Given the description of an element on the screen output the (x, y) to click on. 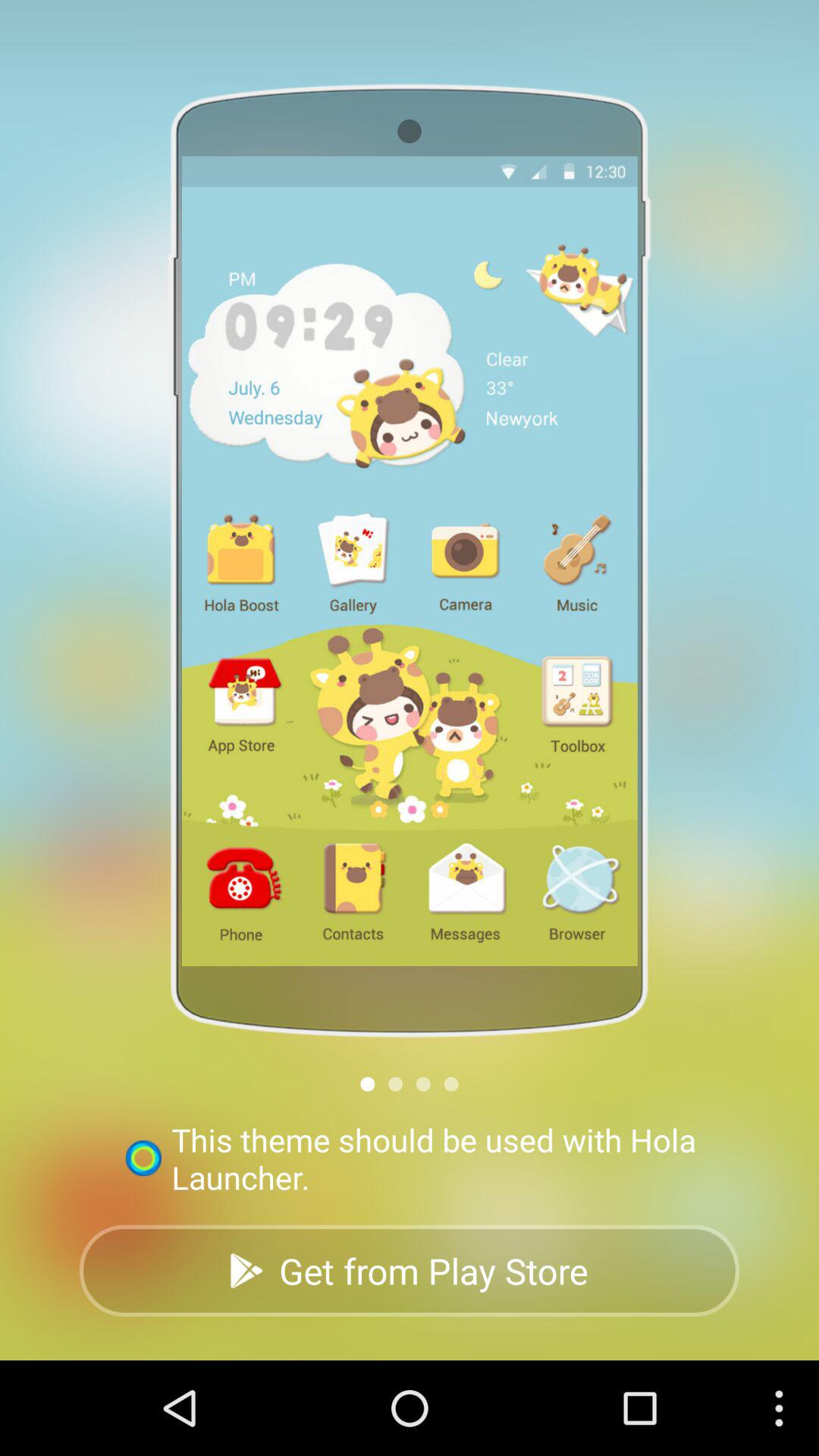
select the third small circle (423, 1084)
